Given the description of an element on the screen output the (x, y) to click on. 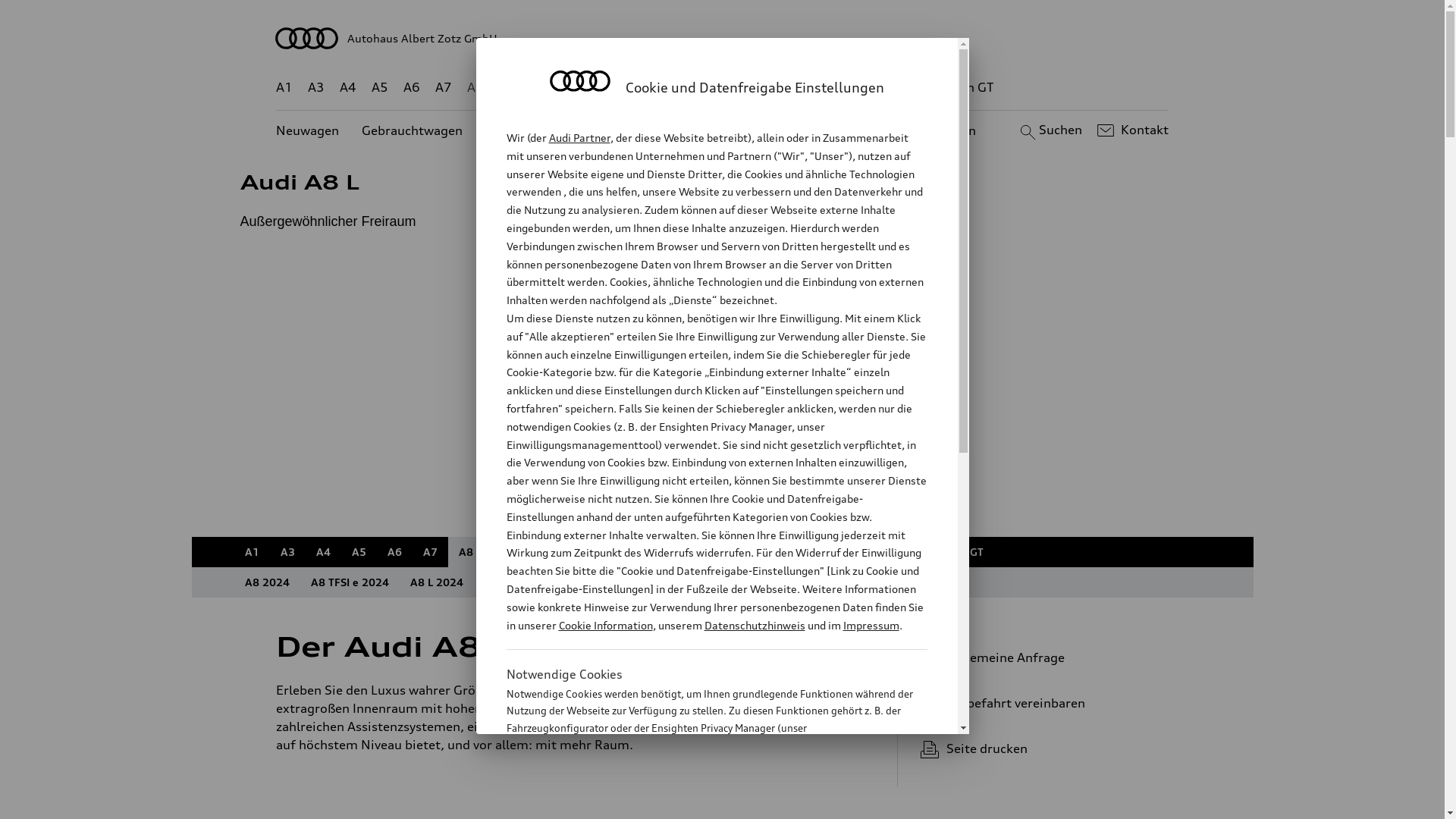
RS Element type: text (861, 87)
Gebrauchtwagen Element type: text (411, 130)
TT Element type: text (814, 87)
A5 Element type: text (358, 551)
Q8 Element type: text (713, 551)
e-tron GT Element type: text (958, 551)
A4 Element type: text (322, 551)
Audi Partner Element type: text (579, 137)
Q2 Element type: text (501, 551)
Cookie Information Element type: text (700, 802)
A8 Element type: text (465, 551)
Probefahrt vereinbaren Element type: text (1038, 702)
Kontakt Element type: text (1130, 130)
Q7 Element type: text (678, 87)
Q5 Element type: text (642, 551)
Q5 Element type: text (645, 87)
Q3 Element type: text (540, 87)
Neuwagen Element type: text (307, 130)
RS Element type: text (852, 551)
Q2 Element type: text (507, 87)
A1 Element type: text (251, 551)
g-tron Element type: text (903, 87)
A1 Element type: text (284, 87)
Q4 e-tron Element type: text (592, 87)
Q3 Element type: text (536, 551)
A8 Element type: text (475, 87)
A7 Element type: text (430, 551)
Seite drucken Element type: text (1044, 748)
Kundenservice Element type: text (730, 130)
TT Element type: text (818, 551)
A8 TFSI e 2024 Element type: text (349, 582)
Q8 e-tron Element type: text (767, 551)
A8 L TFSI e 2024 Element type: text (526, 582)
Q4 e-tron Element type: text (590, 551)
Angebote Element type: text (636, 130)
Autohaus Albert Zotz GmbH Element type: text (722, 38)
A4 Element type: text (347, 87)
Cookie Information Element type: text (605, 624)
g-tron Element type: text (897, 551)
S8 TFSI 2024 Element type: text (624, 582)
A5 Element type: text (379, 87)
Allgemeine Anfrage Element type: text (1038, 657)
A8 L 2024 Element type: text (435, 582)
A3 Element type: text (315, 87)
e-tron GT Element type: text (965, 87)
A3 Element type: text (287, 551)
A6 Element type: text (393, 551)
Q8 Element type: text (710, 87)
Impressum Element type: text (871, 624)
A8 2024 Element type: text (266, 582)
Datenschutzhinweis Element type: text (753, 624)
A6 Element type: text (411, 87)
Q8 e-tron Element type: text (763, 87)
Suchen Element type: text (1049, 130)
A7 Element type: text (443, 87)
Q7 Element type: text (678, 551)
